Given the description of an element on the screen output the (x, y) to click on. 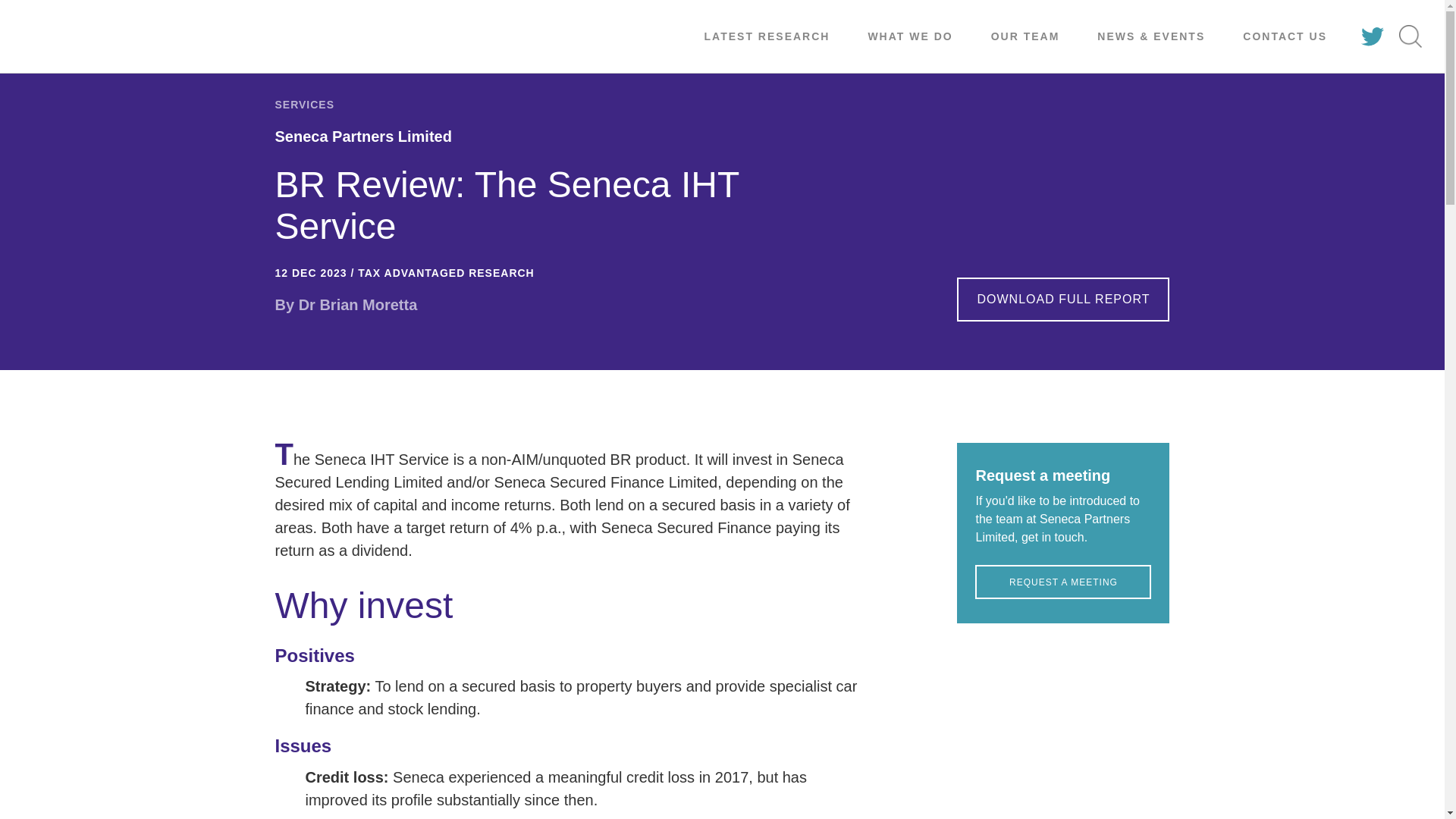
LATEST RESEARCH (766, 36)
WHAT WE DO (909, 36)
OUR TEAM (1025, 36)
CONTACT US (1284, 36)
